Given the description of an element on the screen output the (x, y) to click on. 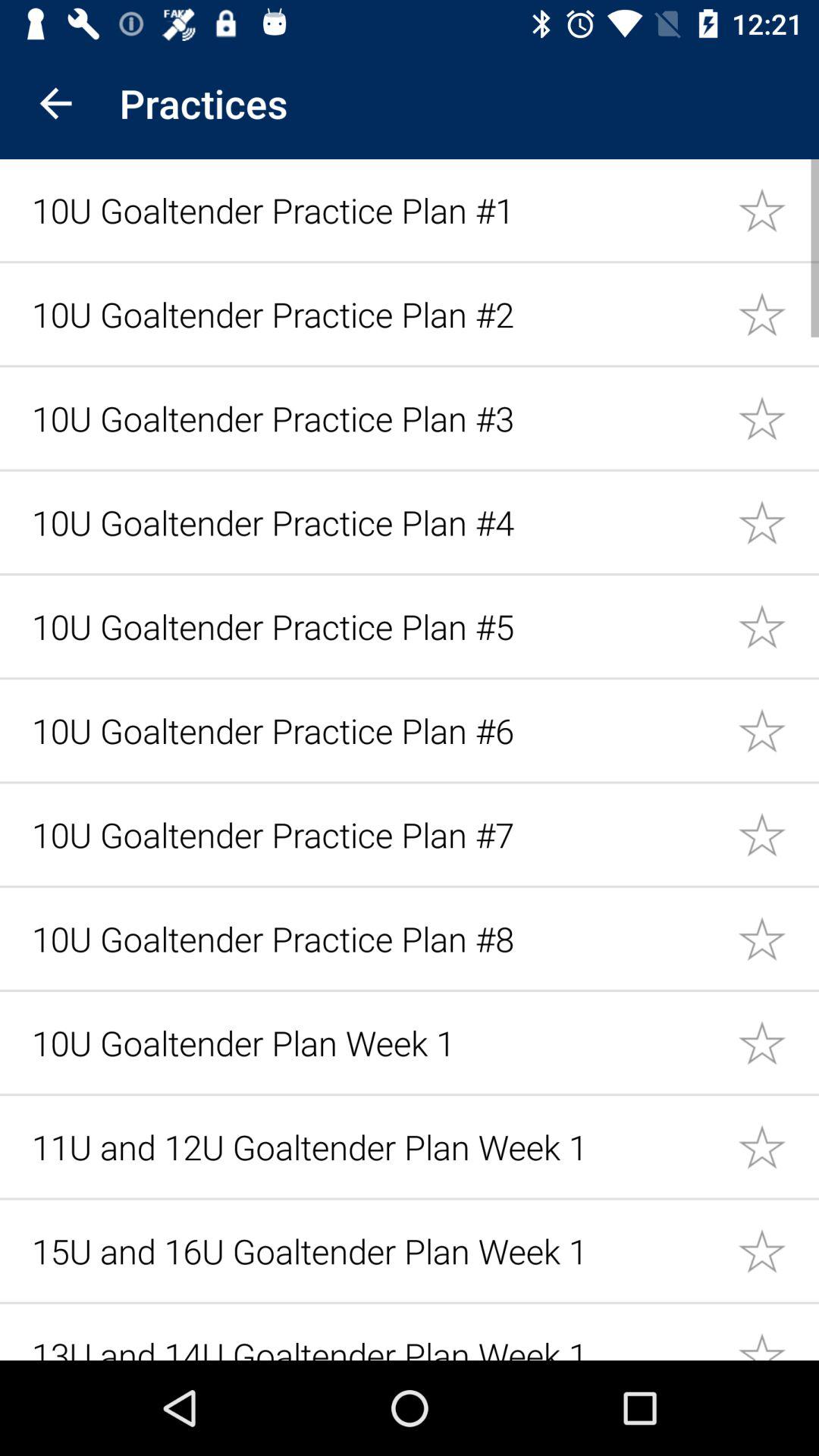
star button (778, 417)
